Given the description of an element on the screen output the (x, y) to click on. 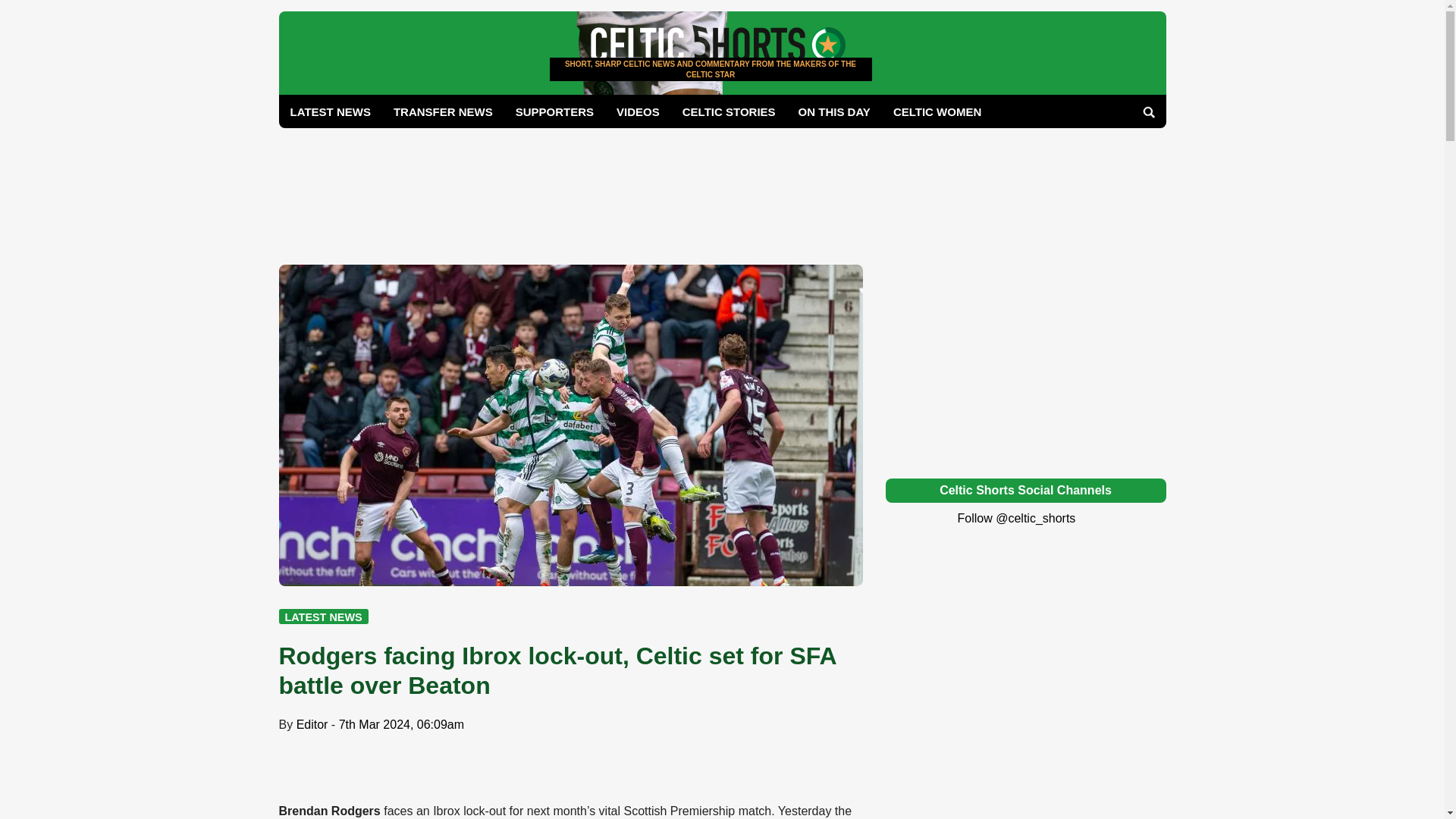
Latest Latest News News (323, 615)
Search (1147, 111)
VIDEOS (638, 111)
SUPPORTERS (554, 111)
Editor (313, 724)
TRANSFER NEWS (442, 111)
Celtic Shorts (710, 90)
7th Mar 2024, 06:09am (401, 724)
